Given the description of an element on the screen output the (x, y) to click on. 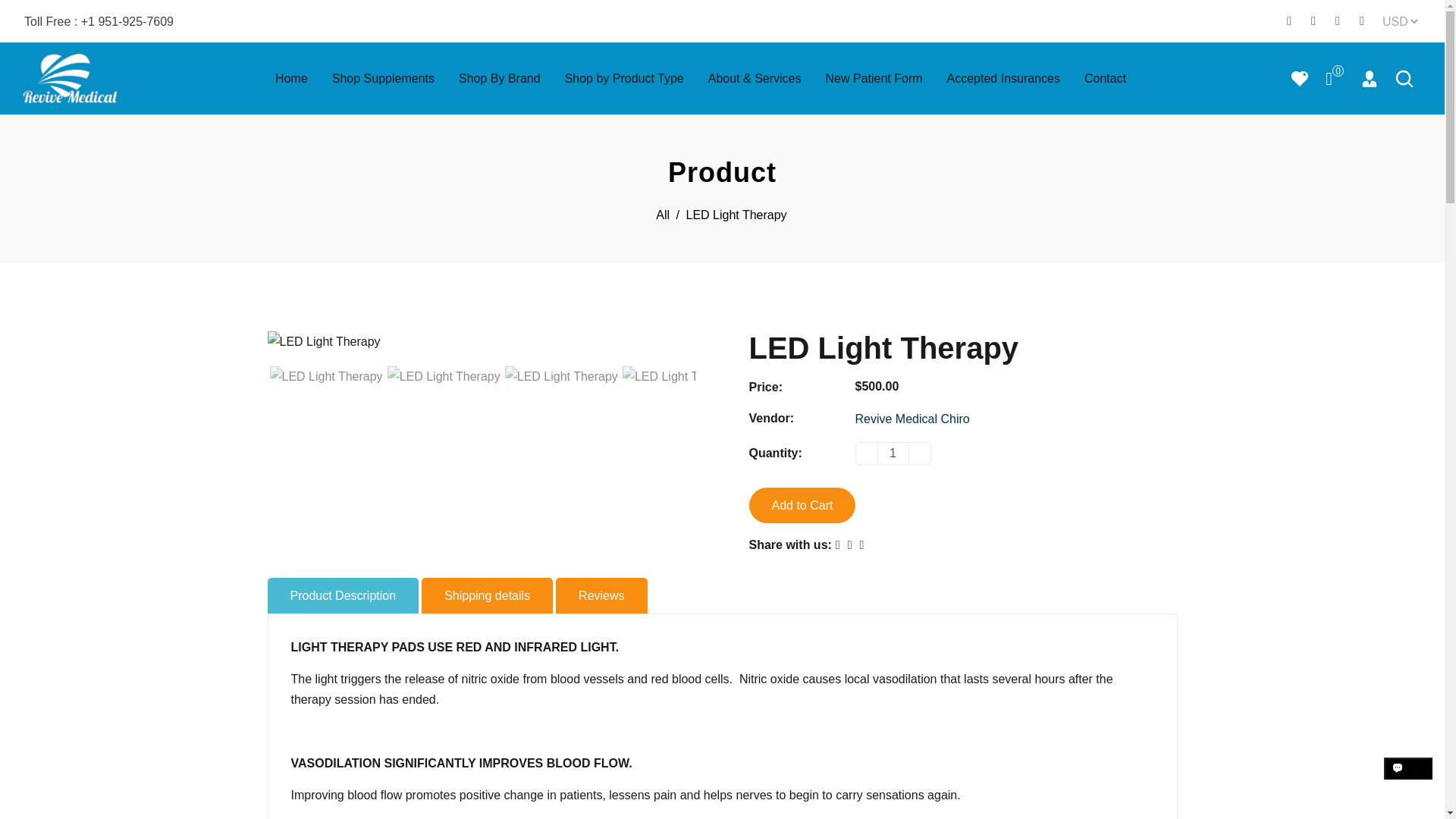
Facebook (1312, 20)
Twitter (1289, 20)
LED Light Therapy (679, 376)
LED Light Therapy (325, 376)
Linkedin (1362, 20)
LED Light Therapy (561, 376)
Pinterest (1337, 20)
LED Light Therapy (443, 376)
Shop by Product Type (624, 77)
1 (892, 453)
